Given the description of an element on the screen output the (x, y) to click on. 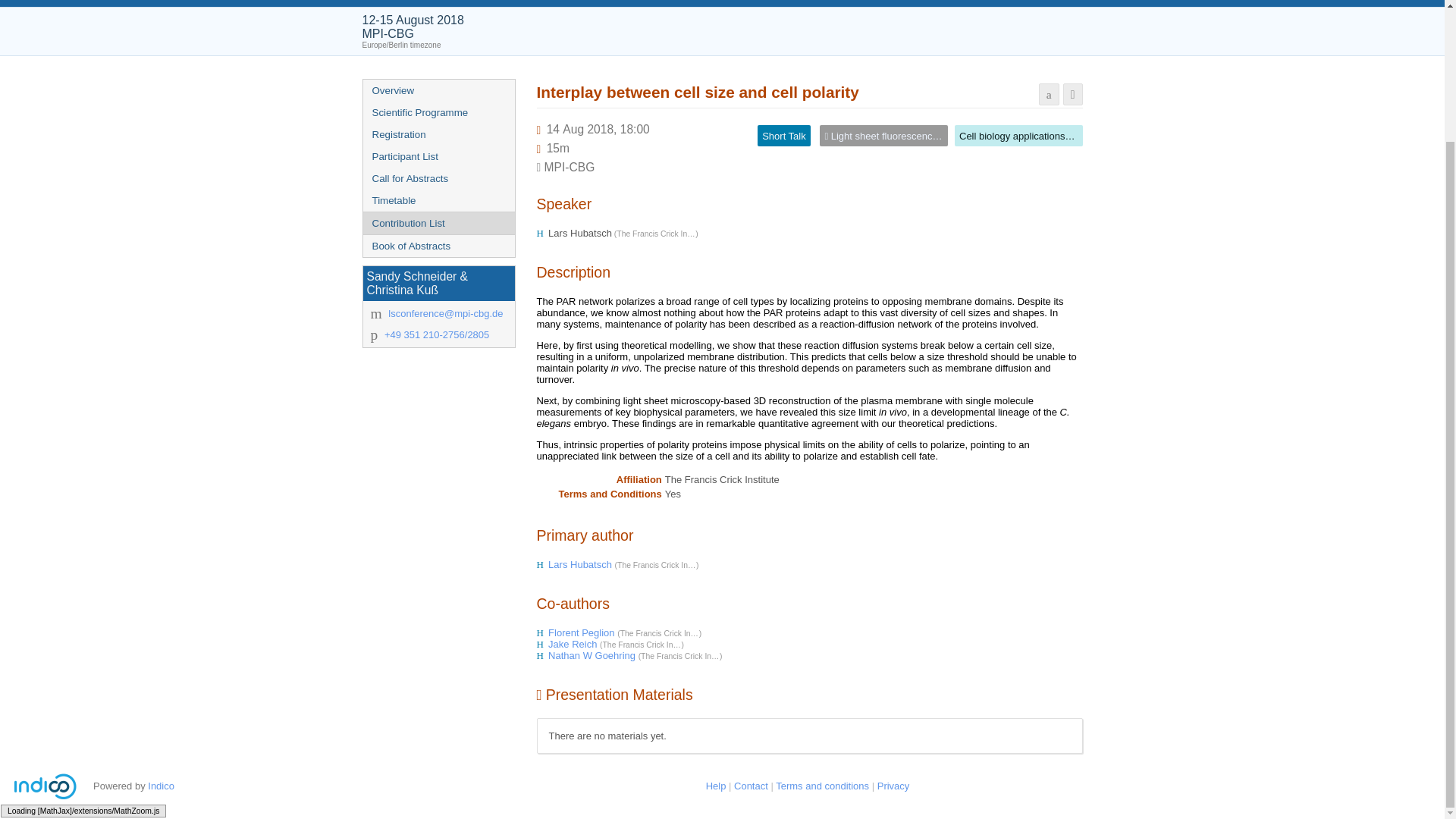
Lars Hubatsch (581, 564)
Call for Abstracts (437, 178)
Cell biology applications of light sheet microcopy (1065, 135)
Participant List (437, 156)
Book of Abstracts (437, 246)
Duration (558, 147)
Overview (437, 90)
Contribution List (437, 223)
Registration (437, 134)
Scientific Programme (437, 112)
Timetable (437, 200)
